Given the description of an element on the screen output the (x, y) to click on. 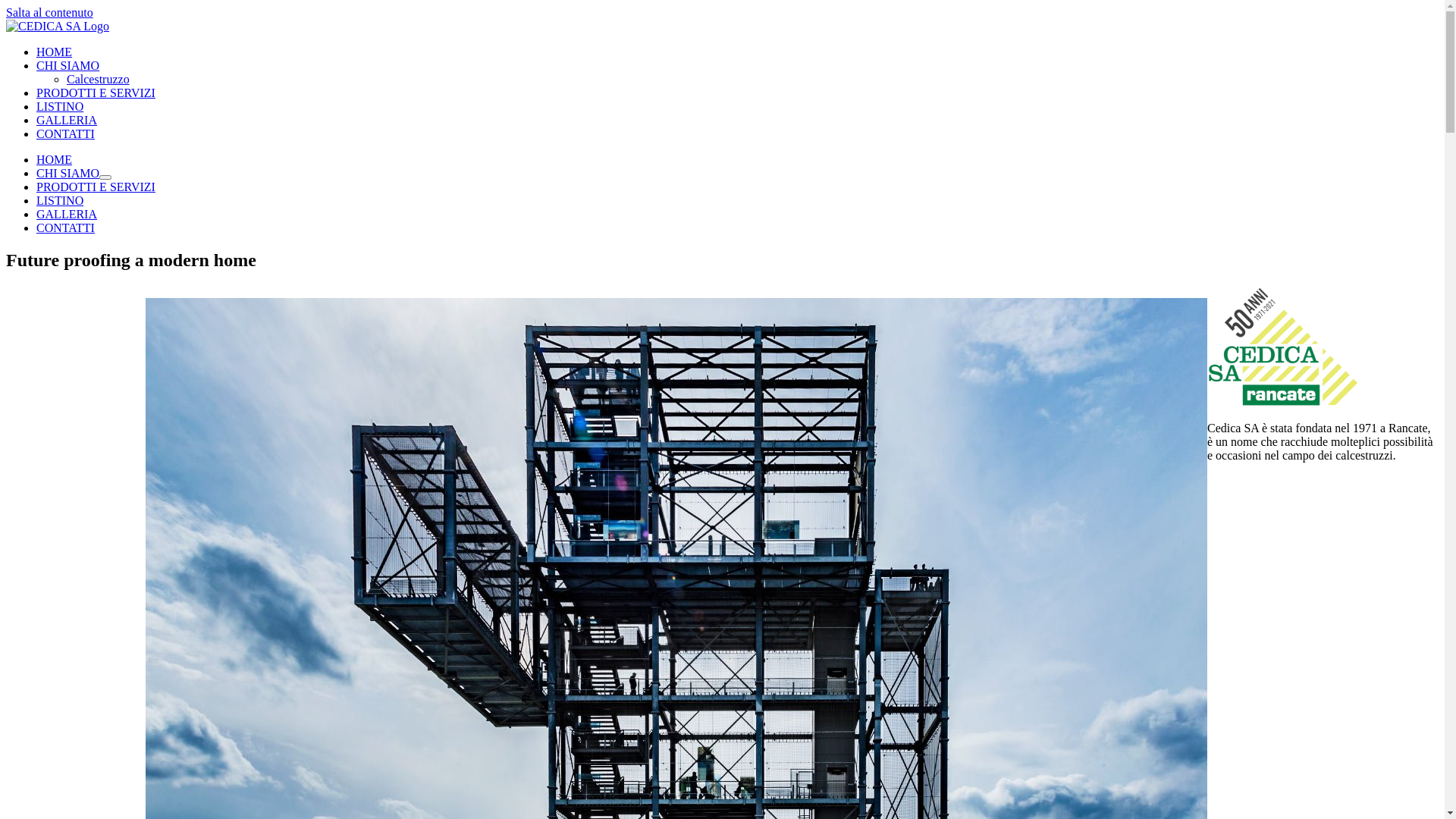
GALLERIA Element type: text (66, 213)
PRODOTTI E SERVIZI Element type: text (95, 186)
CHI SIAMO Element type: text (67, 172)
LISTINO Element type: text (59, 200)
HOME Element type: text (54, 159)
CONTATTI Element type: text (65, 227)
CHI SIAMO Element type: text (67, 65)
Calcestruzzo Element type: text (97, 78)
LISTINO Element type: text (59, 106)
CONTATTI Element type: text (65, 133)
HOME Element type: text (54, 51)
PRODOTTI E SERVIZI Element type: text (95, 92)
GALLERIA Element type: text (66, 119)
Salta al contenuto Element type: text (49, 12)
